Given the description of an element on the screen output the (x, y) to click on. 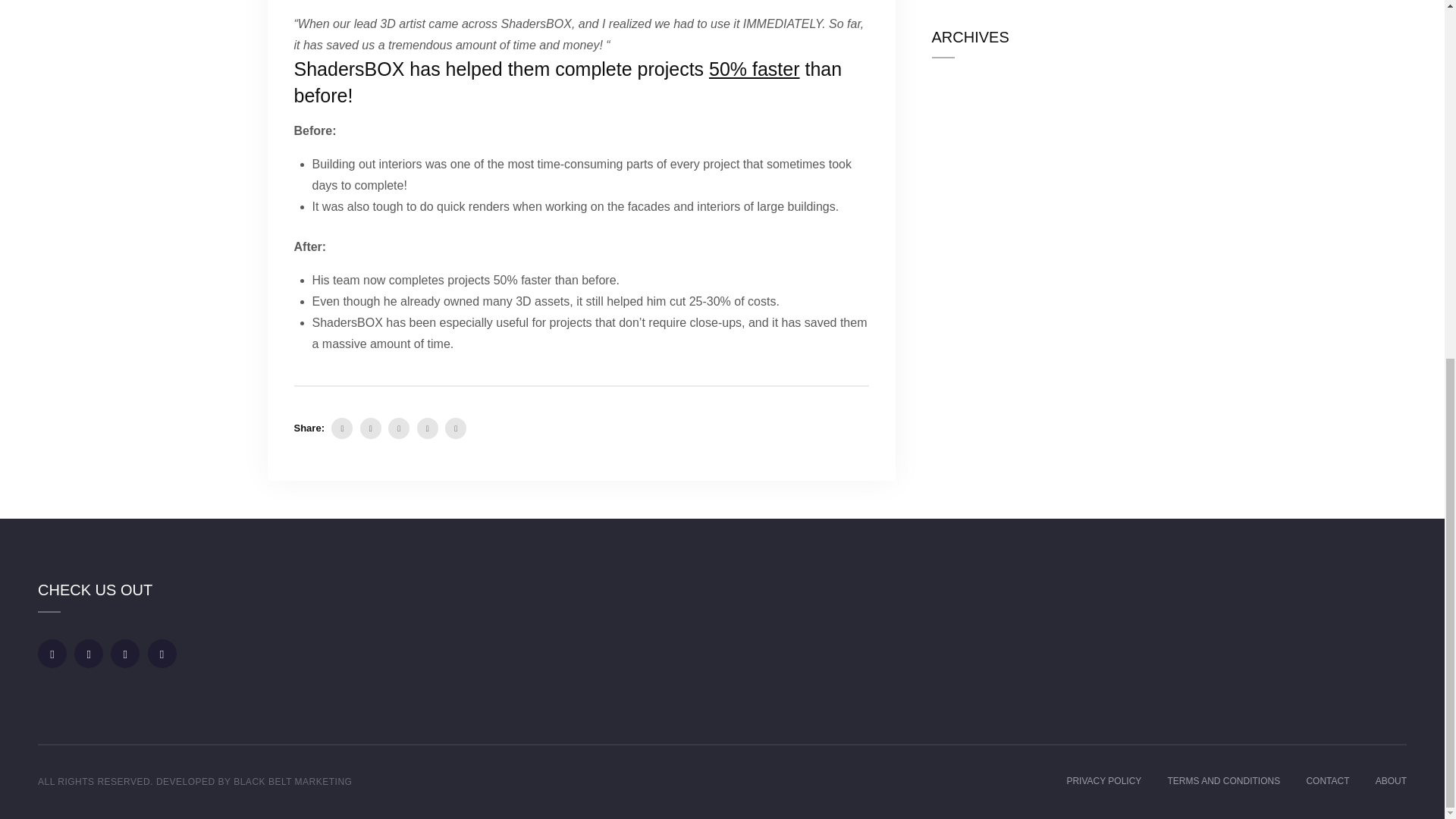
Share on E-mail (455, 427)
Twitter (370, 427)
TERMS AND CONDITIONS (1224, 780)
PRIVACY POLICY (1103, 780)
CONTACT (1327, 780)
ABOUT (1390, 780)
Share on Facebook (341, 427)
Share on Pinterest (398, 427)
